Given the description of an element on the screen output the (x, y) to click on. 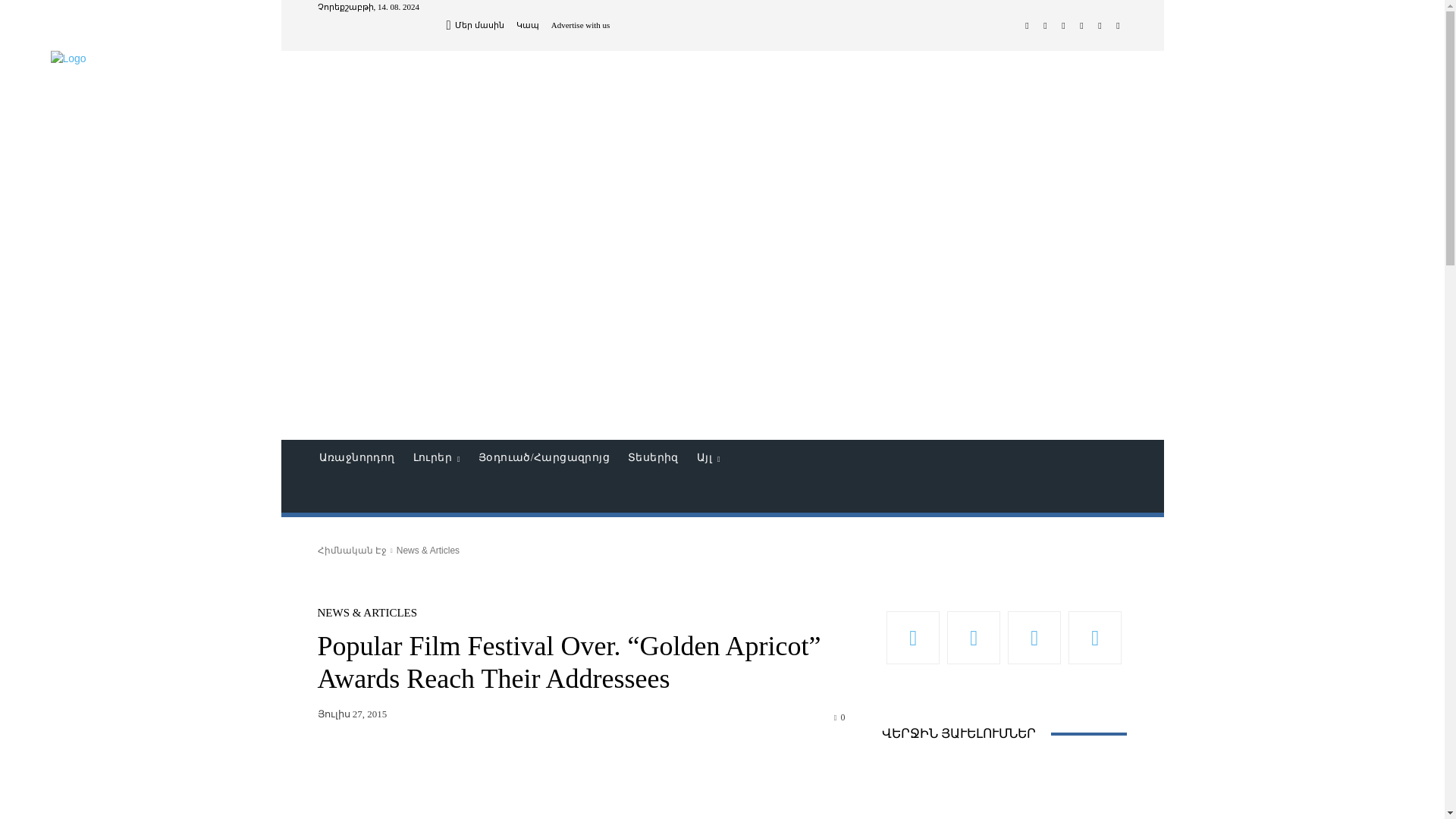
Mail (1044, 25)
Youtube (1117, 25)
Facebook (1026, 25)
Telegram (1099, 25)
RSS (1080, 25)
Advertise with us (580, 25)
Paypal (1062, 25)
